Given the description of an element on the screen output the (x, y) to click on. 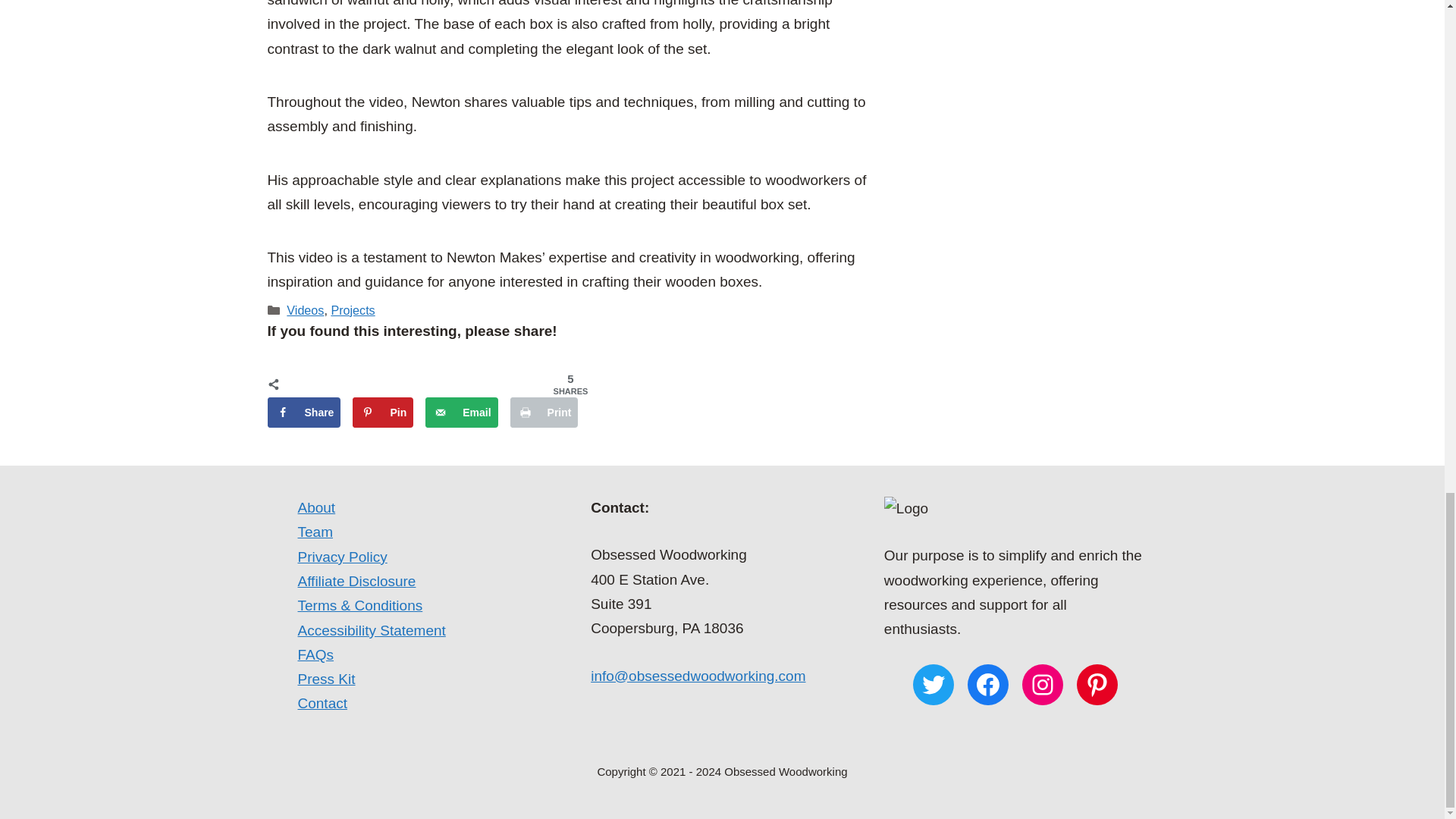
Save to Pinterest (382, 412)
Logo (905, 508)
Send over email (461, 412)
Print this webpage (544, 412)
Share on Facebook (303, 412)
Scroll back to top (1406, 284)
